Given the description of an element on the screen output the (x, y) to click on. 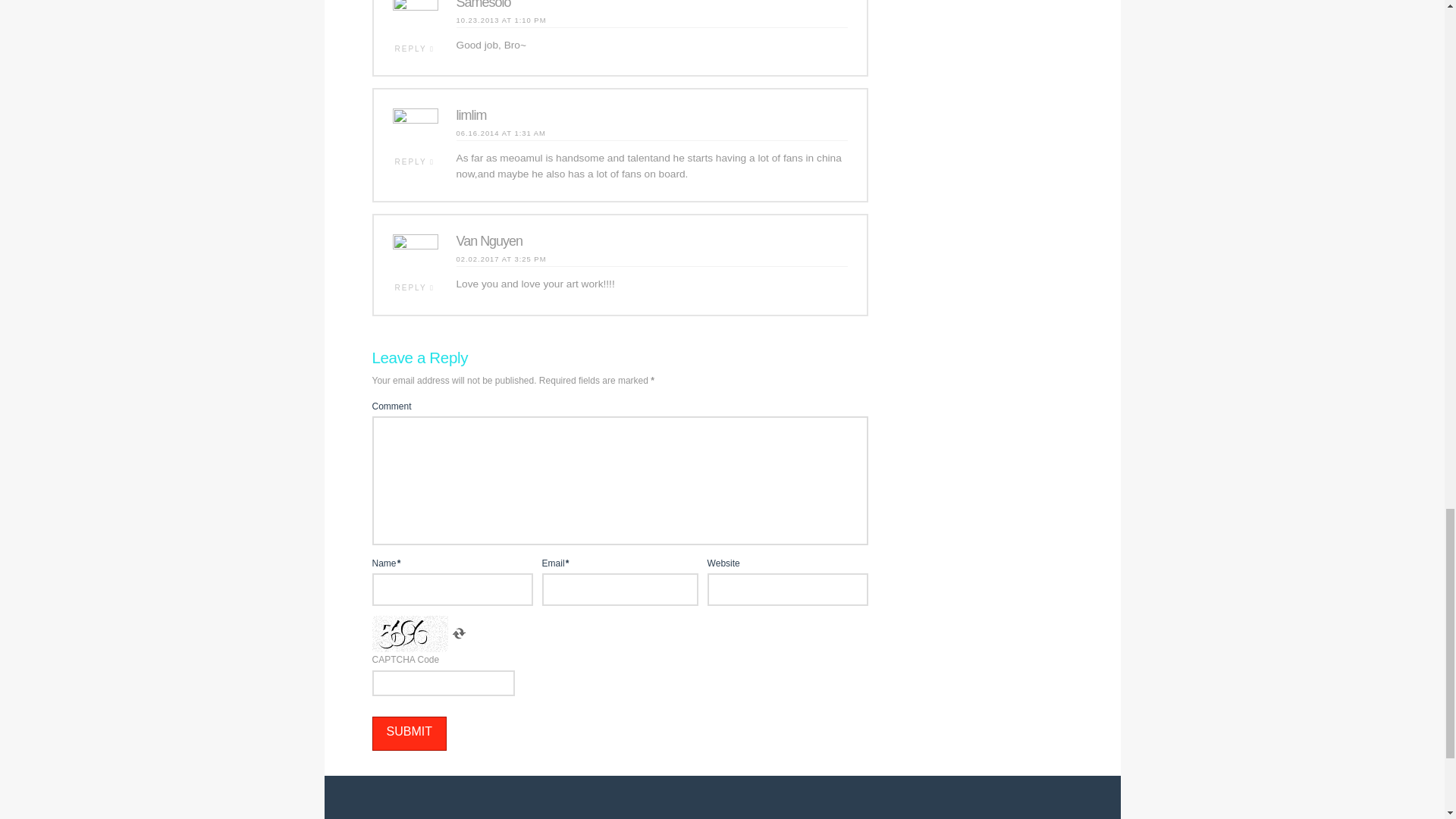
Captcha Reload (458, 633)
Submit (408, 733)
